Given the description of an element on the screen output the (x, y) to click on. 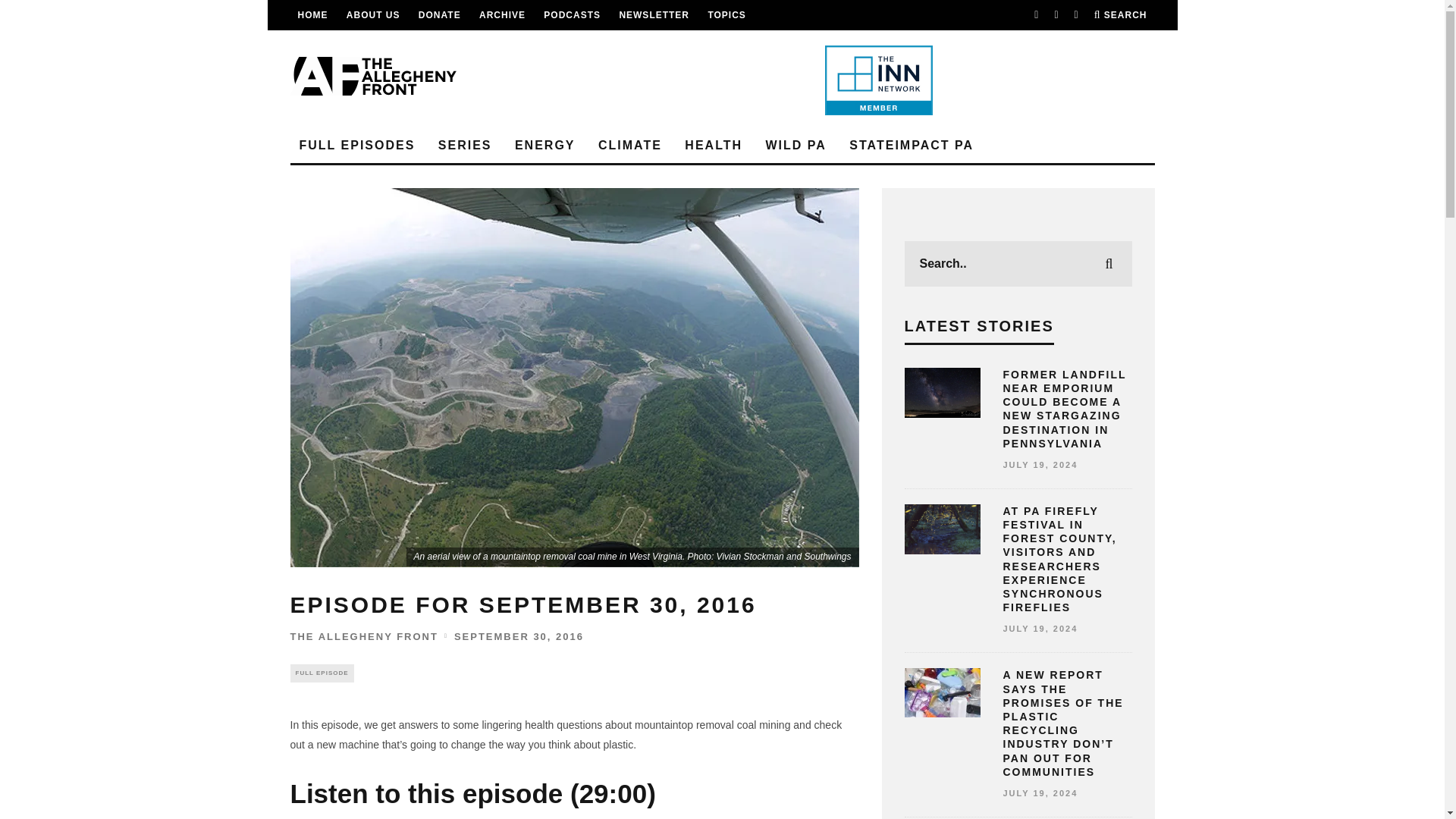
Search (1120, 15)
TOPICS (726, 15)
HOME (312, 15)
ARCHIVE (502, 15)
SEARCH (1120, 15)
ABOUT US (373, 15)
View all posts in Full Episode (321, 673)
DONATE (440, 15)
NEWSLETTER (653, 15)
PODCASTS (571, 15)
